Given the description of an element on the screen output the (x, y) to click on. 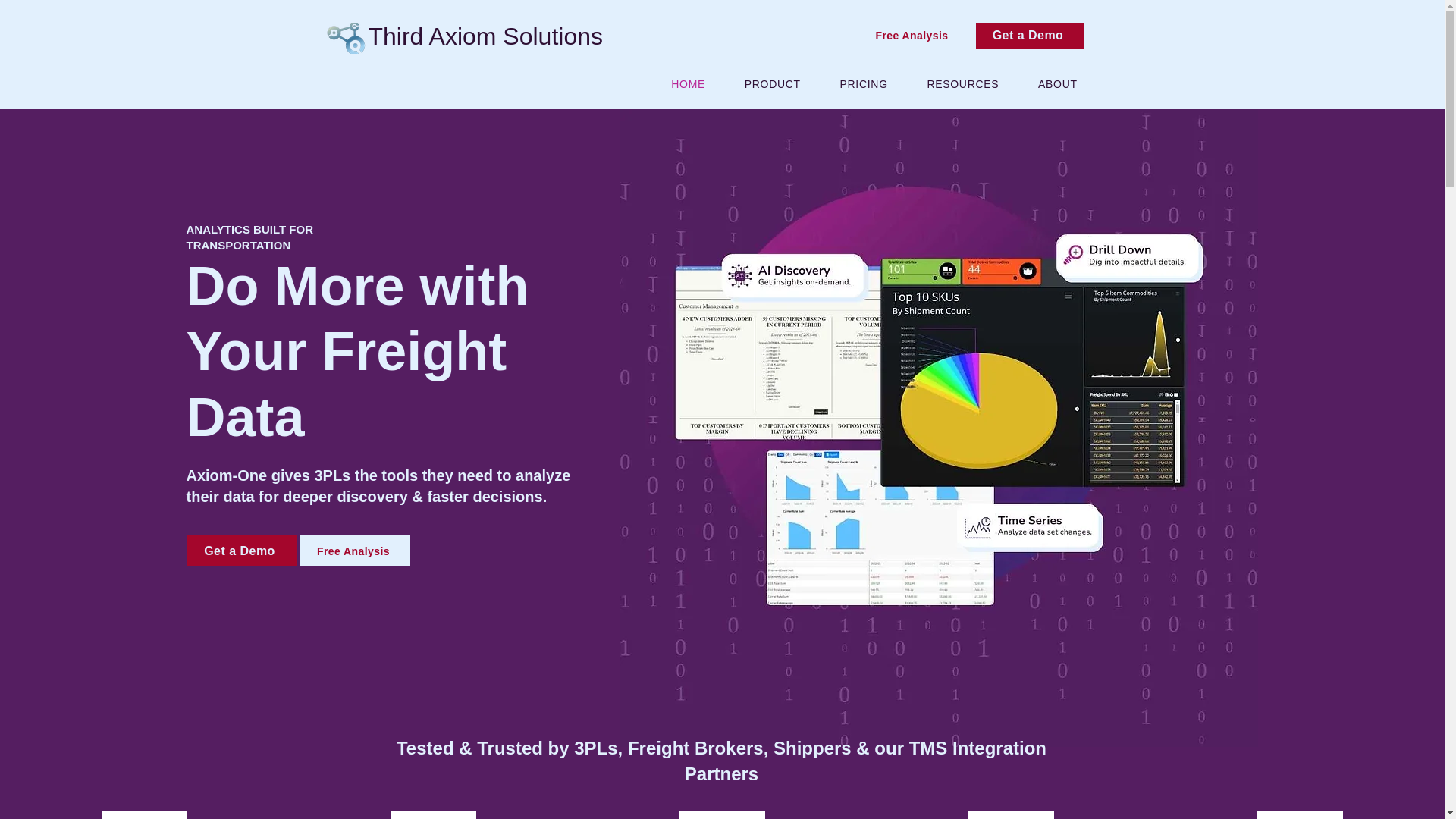
Free Analysis (913, 35)
ABOUT (1057, 83)
PRICING (864, 83)
Get a Demo (241, 550)
Free Analysis (354, 550)
Third Axiom Solutions (485, 35)
Get a Demo (1029, 35)
HOME (688, 83)
